Given the description of an element on the screen output the (x, y) to click on. 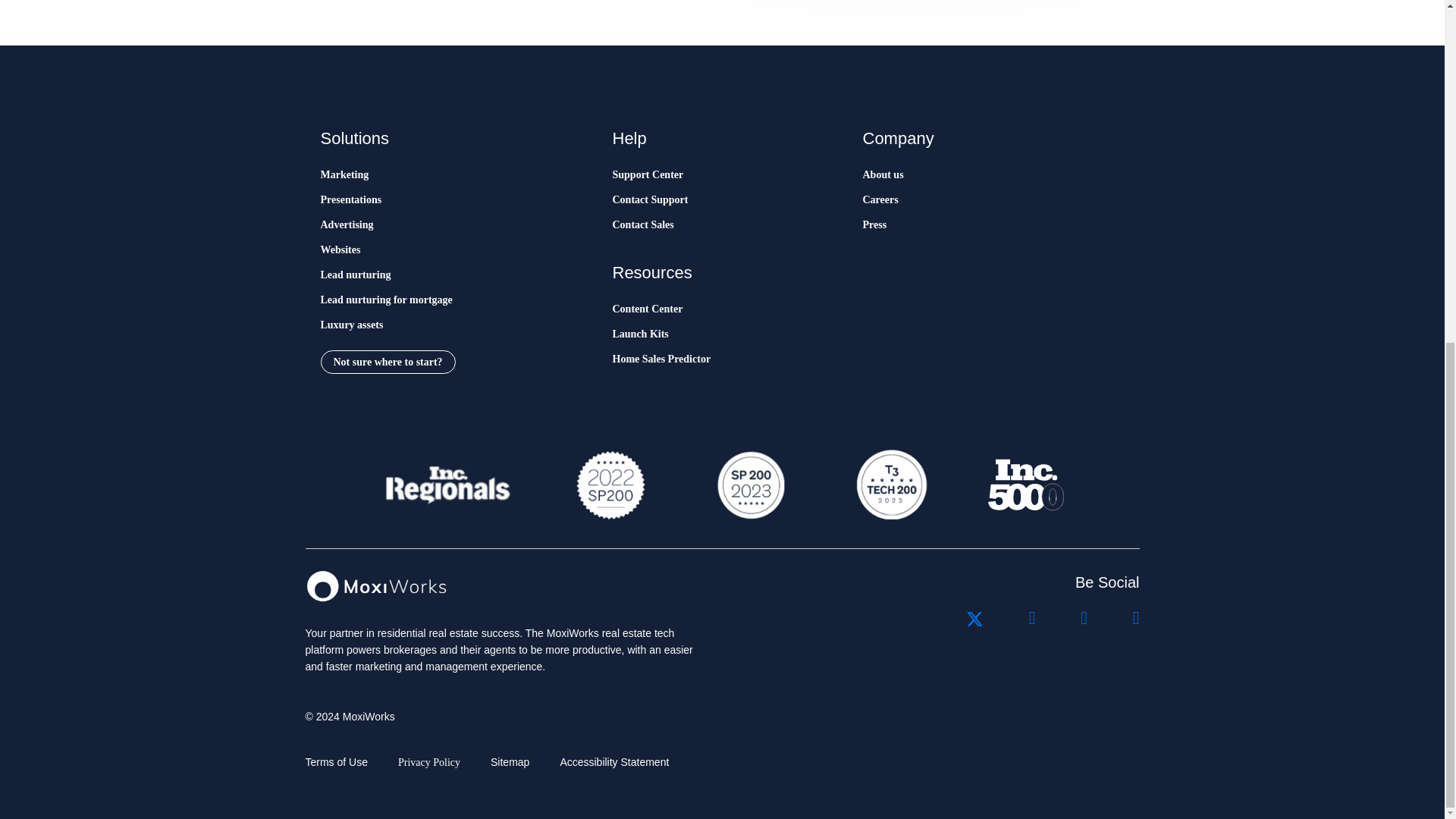
SP 2022 (610, 484)
SP 2023 (749, 484)
T3 tech 200 2023 (890, 484)
